Given the description of an element on the screen output the (x, y) to click on. 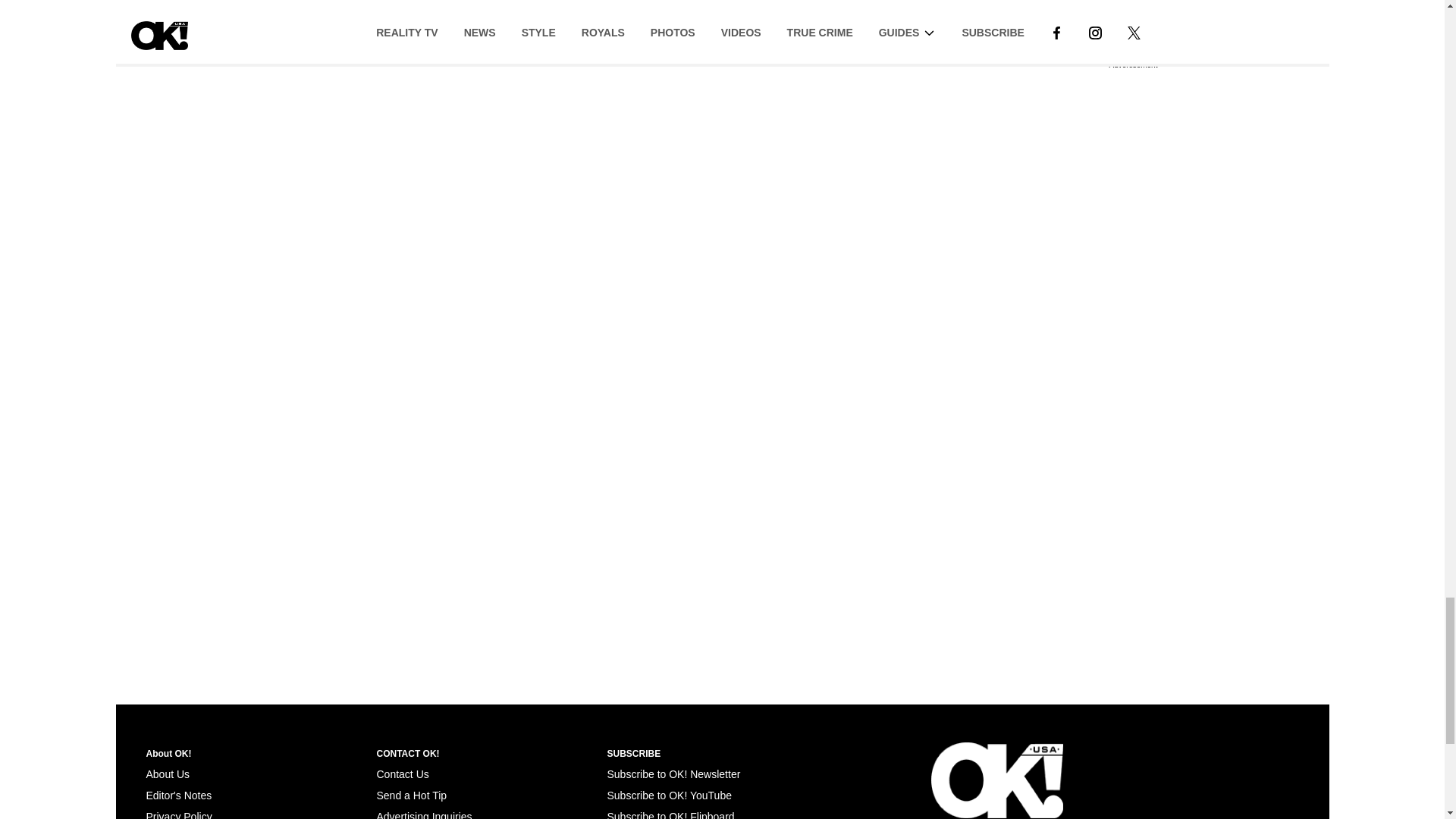
Contact Us (401, 774)
Subscribe to OK! (673, 774)
Editor's Notes (178, 795)
Advertising Inquiries (423, 814)
Subscribe to OK! Magazine on YouTube (668, 795)
Privacy Policy (178, 814)
About Us (167, 774)
Send a Hot Tip (410, 795)
